Given the description of an element on the screen output the (x, y) to click on. 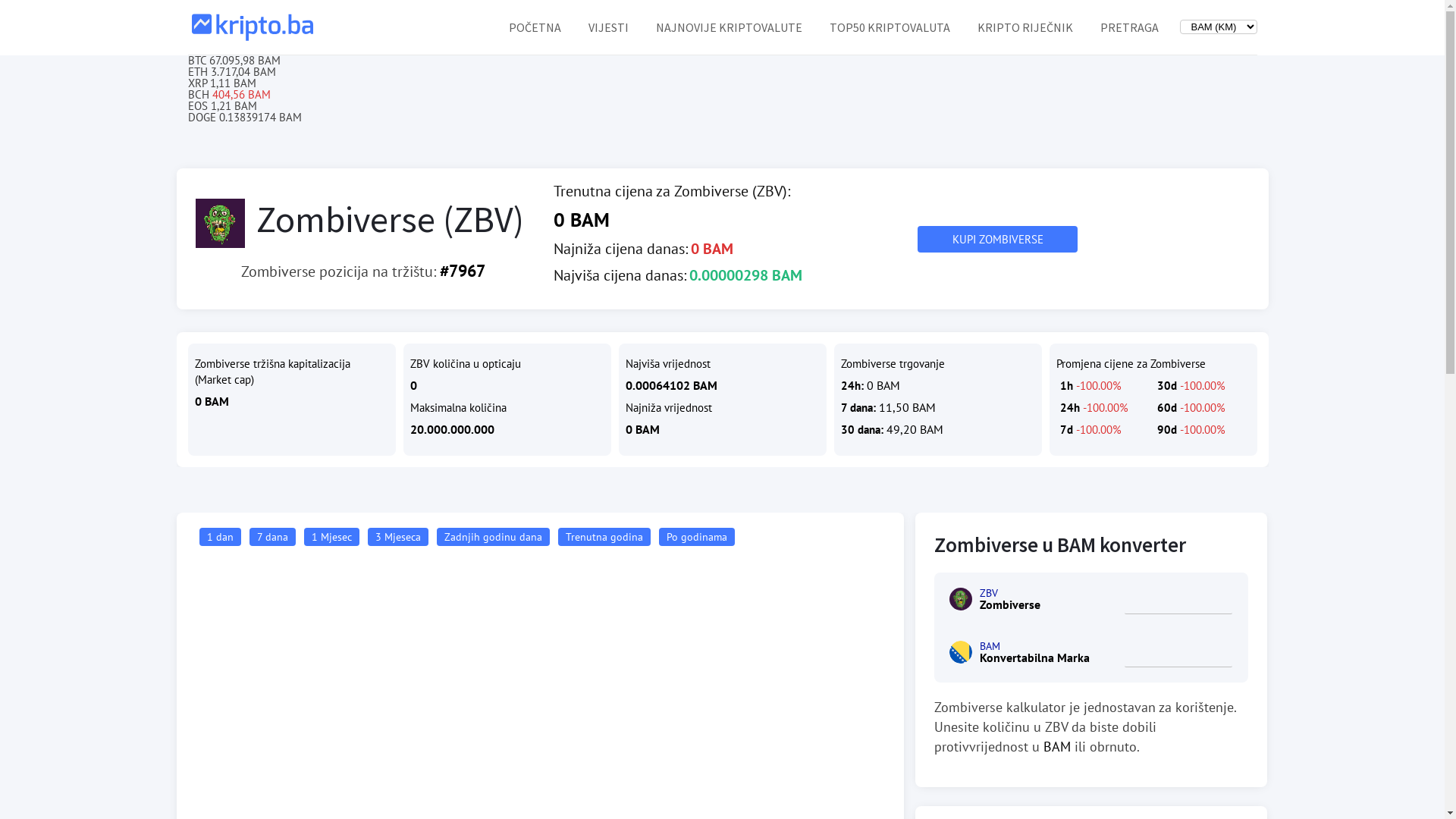
Zadnjih godinu dana Element type: text (492, 536)
Po godinama Element type: text (696, 536)
KUPI ZOMBIVERSE Element type: text (997, 238)
Trenutna godina Element type: text (604, 536)
1 Mjesec Element type: text (330, 536)
TOP50 KRIPTOVALUTA Element type: text (889, 26)
PRETRAGA Element type: text (1128, 26)
BTC 67.095,98 BAM Element type: text (722, 59)
XRP 1,11 BAM Element type: text (722, 82)
BCH 404,56 BAM Element type: text (722, 94)
DOGE 0.13839174 BAM Element type: text (722, 116)
1 dan Element type: text (219, 536)
ETH 3.717,04 BAM Element type: text (722, 71)
7 dana Element type: text (271, 536)
EOS 1,21 BAM Element type: text (722, 105)
VIJESTI Element type: text (608, 26)
NAJNOVIJE KRIPTOVALUTE Element type: text (728, 26)
3 Mjeseca Element type: text (397, 536)
